Given the description of an element on the screen output the (x, y) to click on. 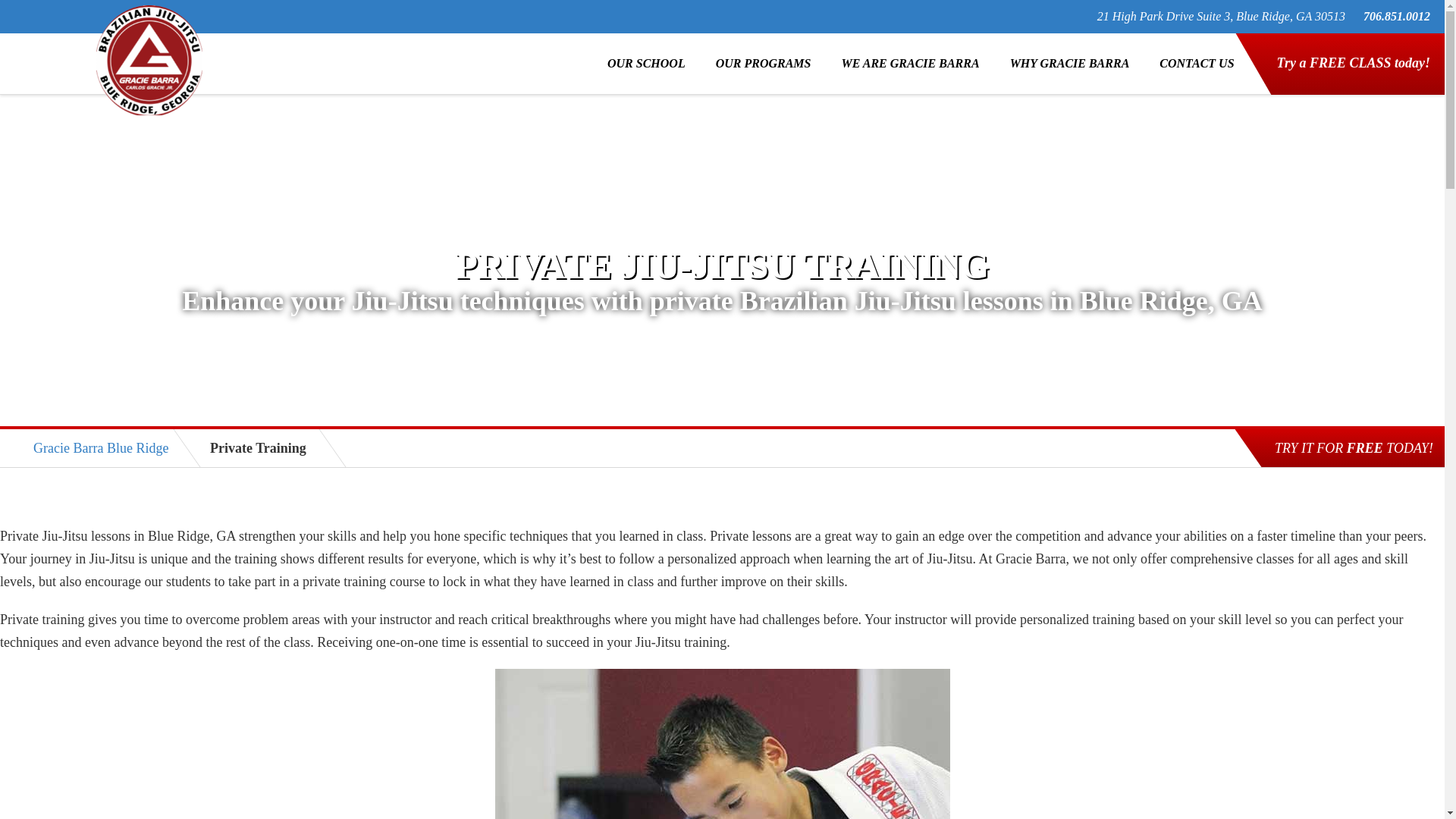
WE ARE GRACIE BARRA (909, 63)
Gracie Barra Blue Ridge (100, 447)
Try a FREE CLASS today! (1352, 81)
CONTACT US (1196, 63)
WHY GRACIE BARRA (1069, 63)
OUR SCHOOL (646, 63)
OUR PROGRAMS (763, 63)
Gracie Barra Blue Ridge (149, 59)
TRY IT FOR FREE TODAY! (1353, 447)
